Given the description of an element on the screen output the (x, y) to click on. 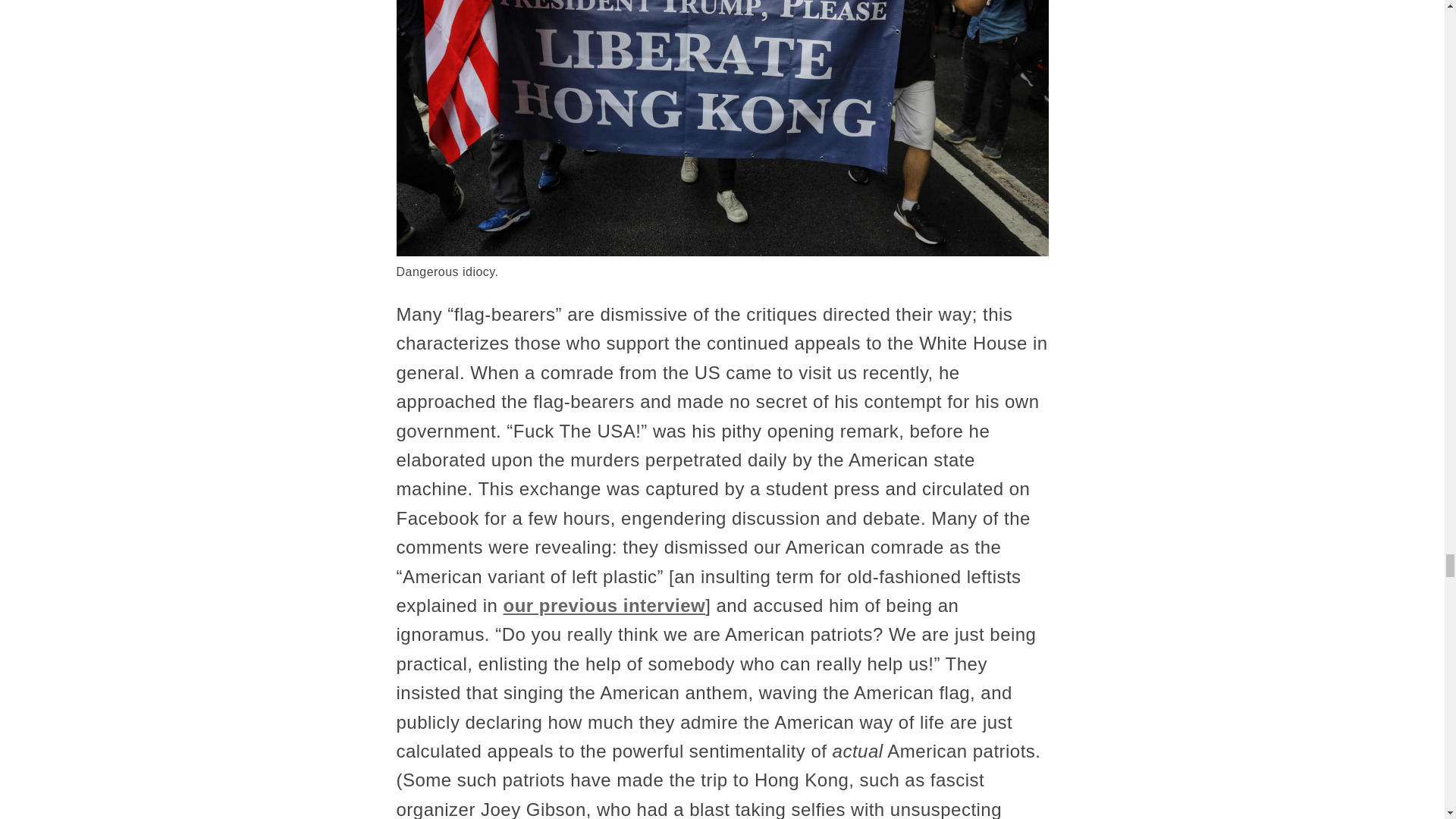
our previous interview (604, 605)
